Given the description of an element on the screen output the (x, y) to click on. 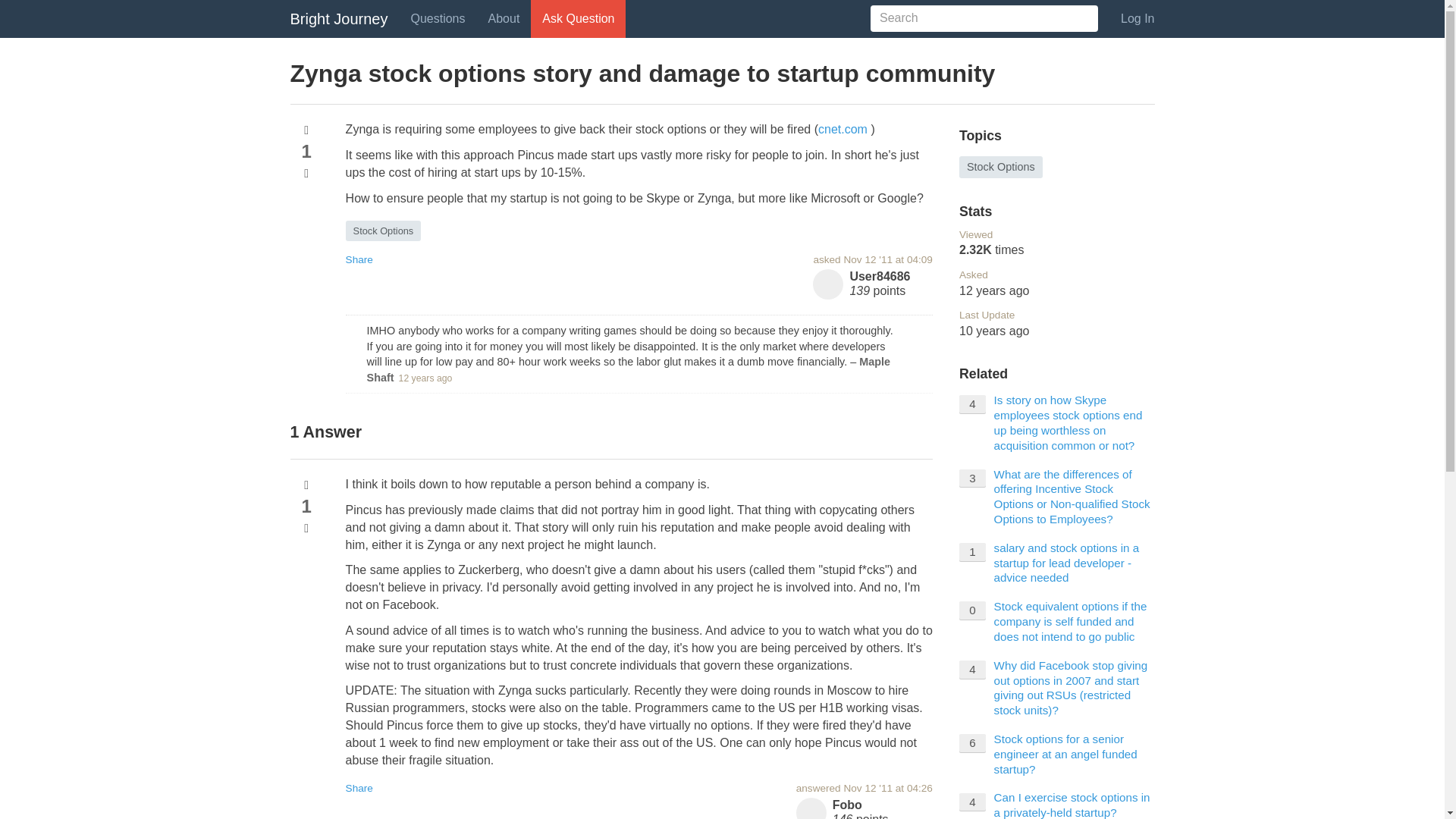
Can I exercise stock options in a privately-held startup? (1072, 805)
You need to be logged in to vote (306, 485)
Share (359, 787)
About (504, 18)
Questions (437, 18)
cnet.com (842, 128)
Share (359, 259)
Log In (1137, 18)
Stock Options (384, 230)
Bright Journey (338, 18)
